Given the description of an element on the screen output the (x, y) to click on. 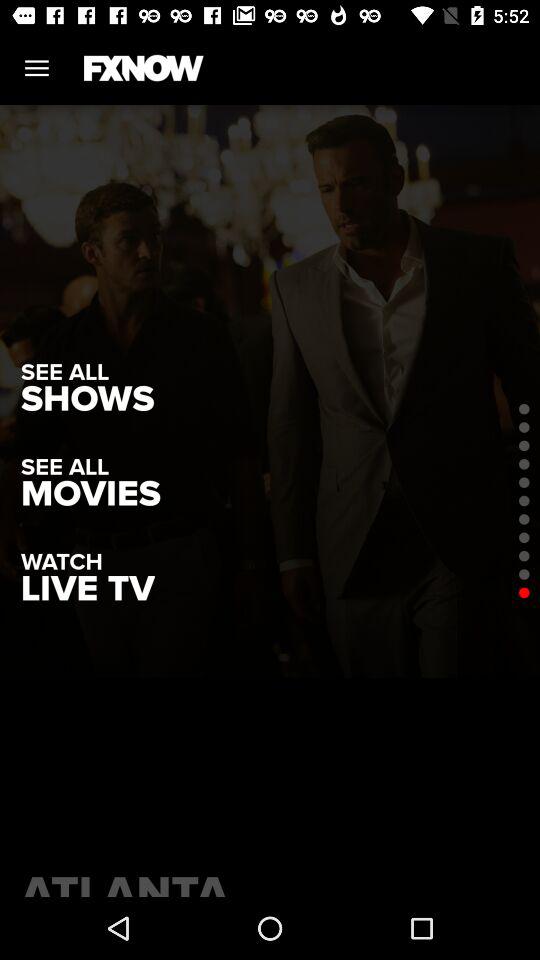
press the movies (90, 493)
